Given the description of an element on the screen output the (x, y) to click on. 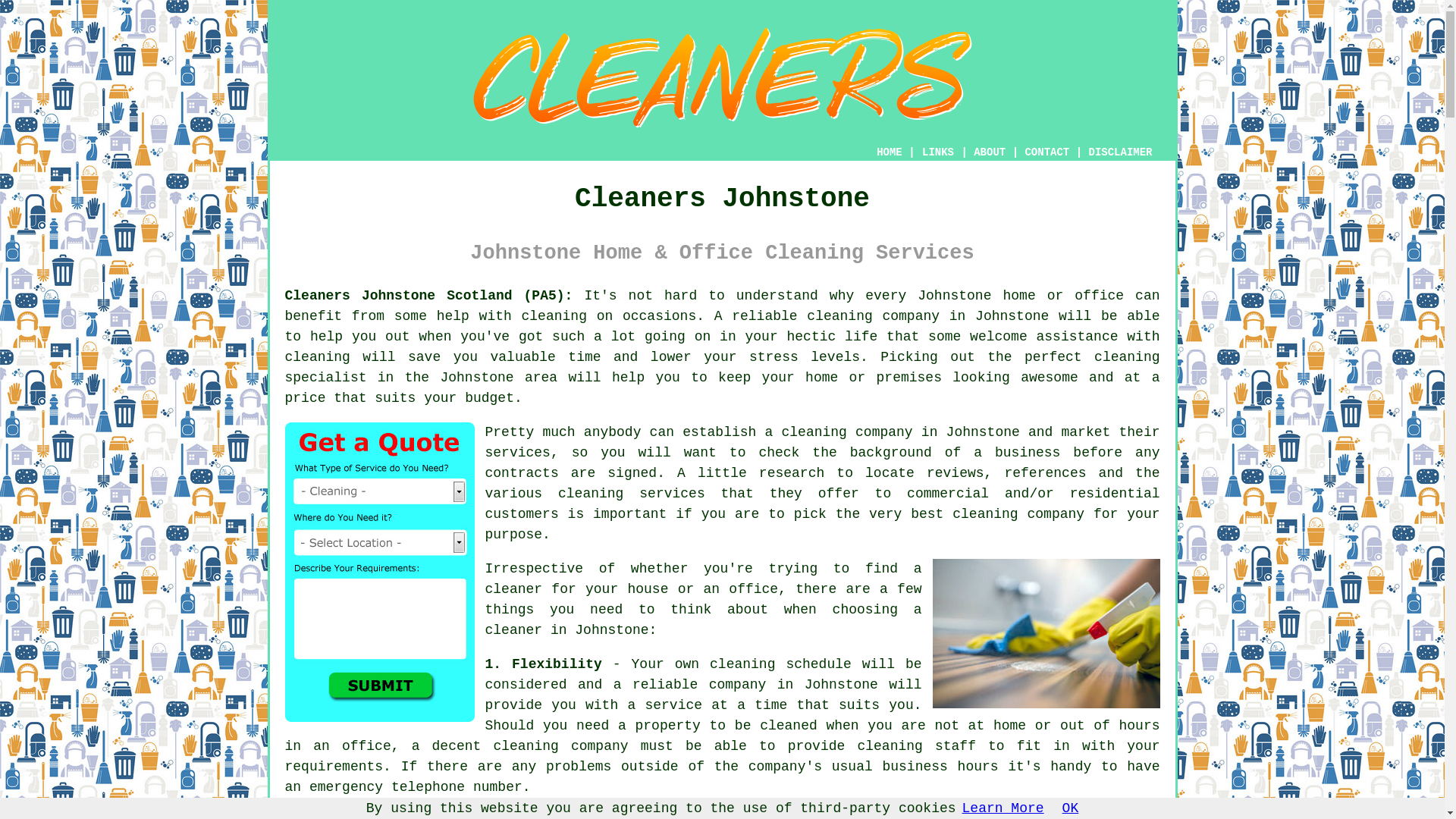
LINKS (938, 151)
HOME (889, 152)
cleaning (812, 432)
cleaner (513, 589)
Cleaners Johnstone (722, 77)
